Given the description of an element on the screen output the (x, y) to click on. 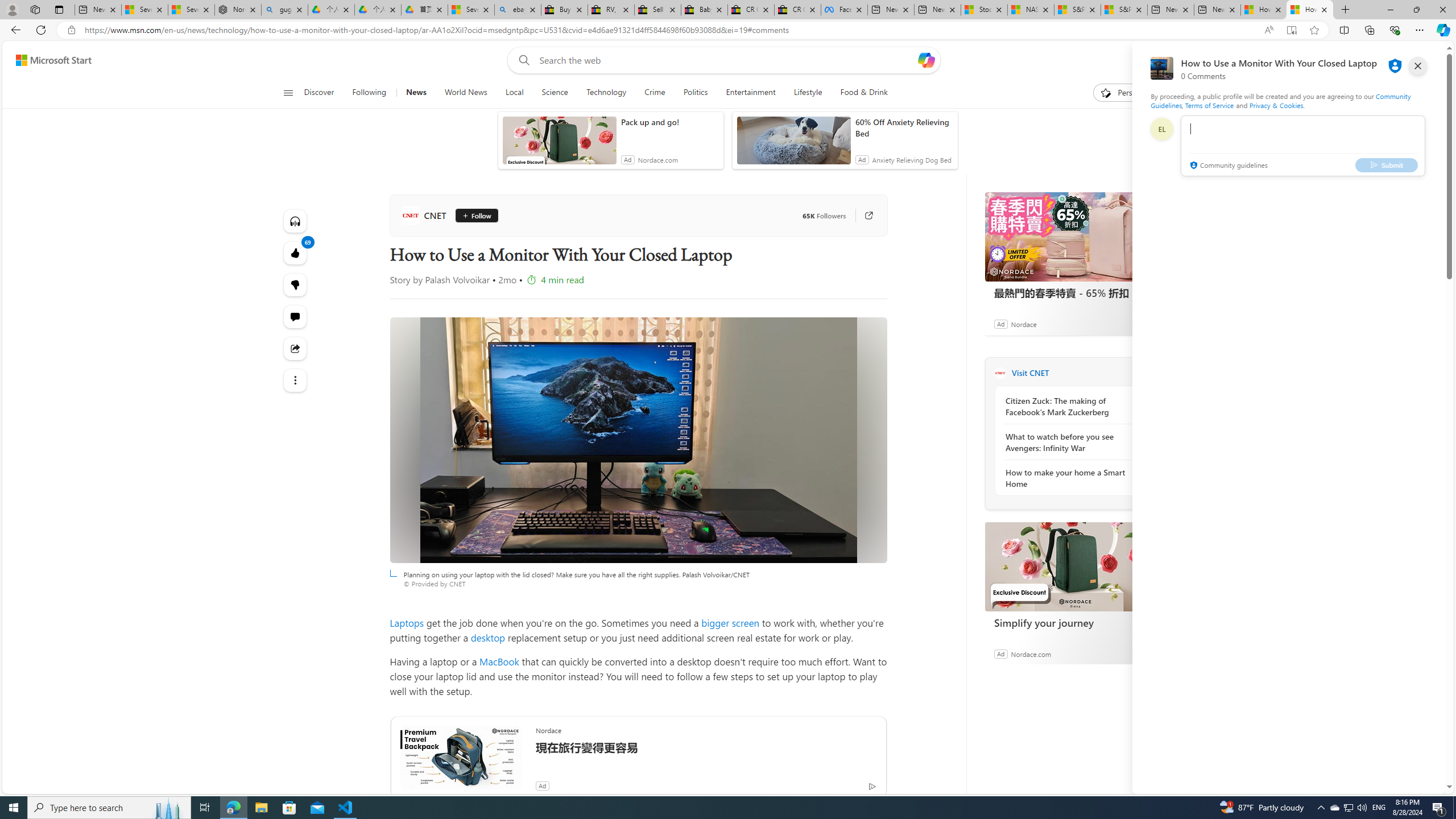
CNET (425, 215)
More like this69Fewer like thisStart the conversation (295, 284)
What to watch before you see Avengers: Infinity War (1066, 441)
Politics (694, 92)
Entertainment (750, 92)
Local (514, 92)
Citizen Zuck: The making of Facebook's Mark Zuckerberg (1066, 406)
Simplify your journey (1070, 566)
